Given the description of an element on the screen output the (x, y) to click on. 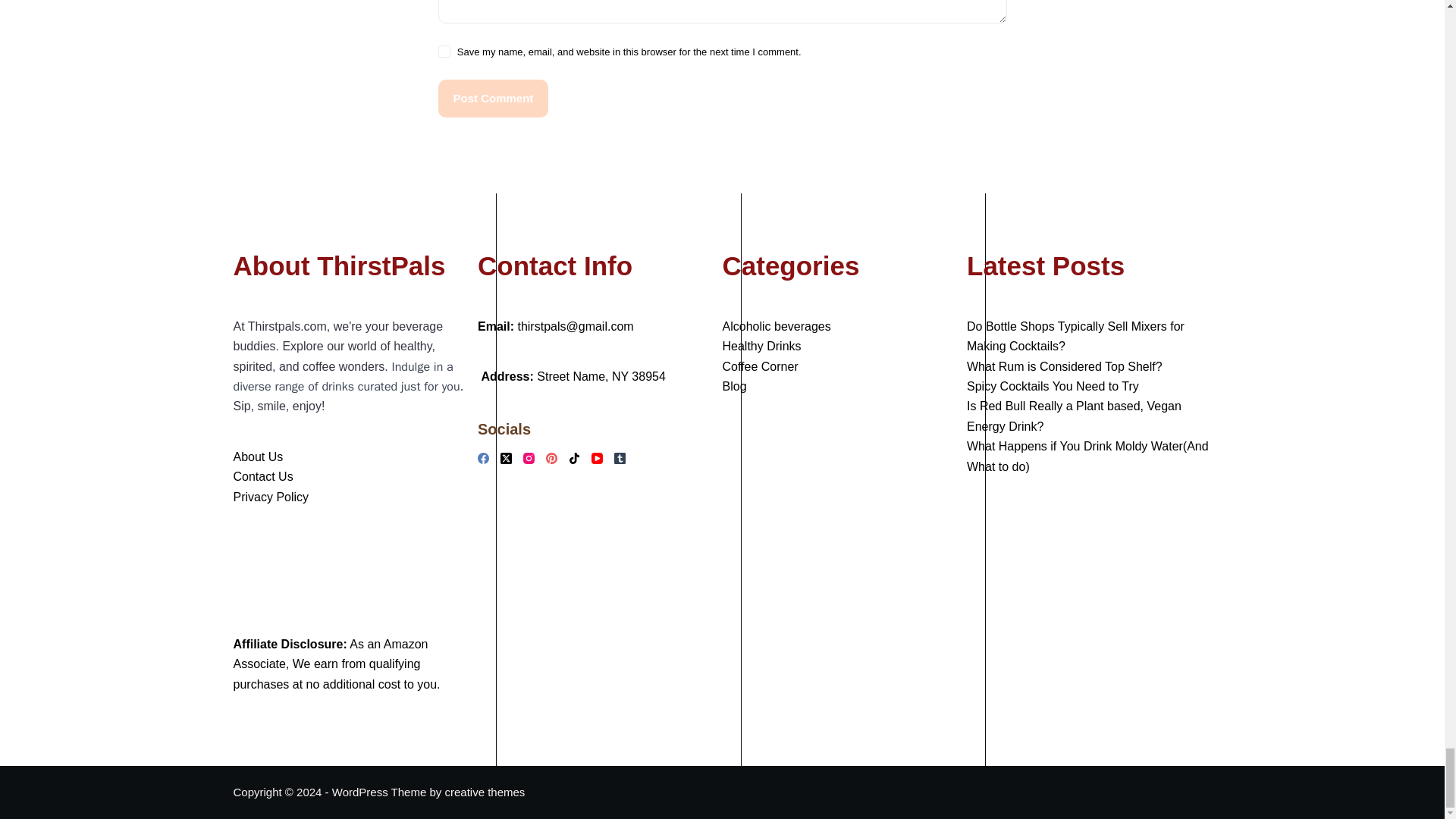
yes (443, 51)
